Given the description of an element on the screen output the (x, y) to click on. 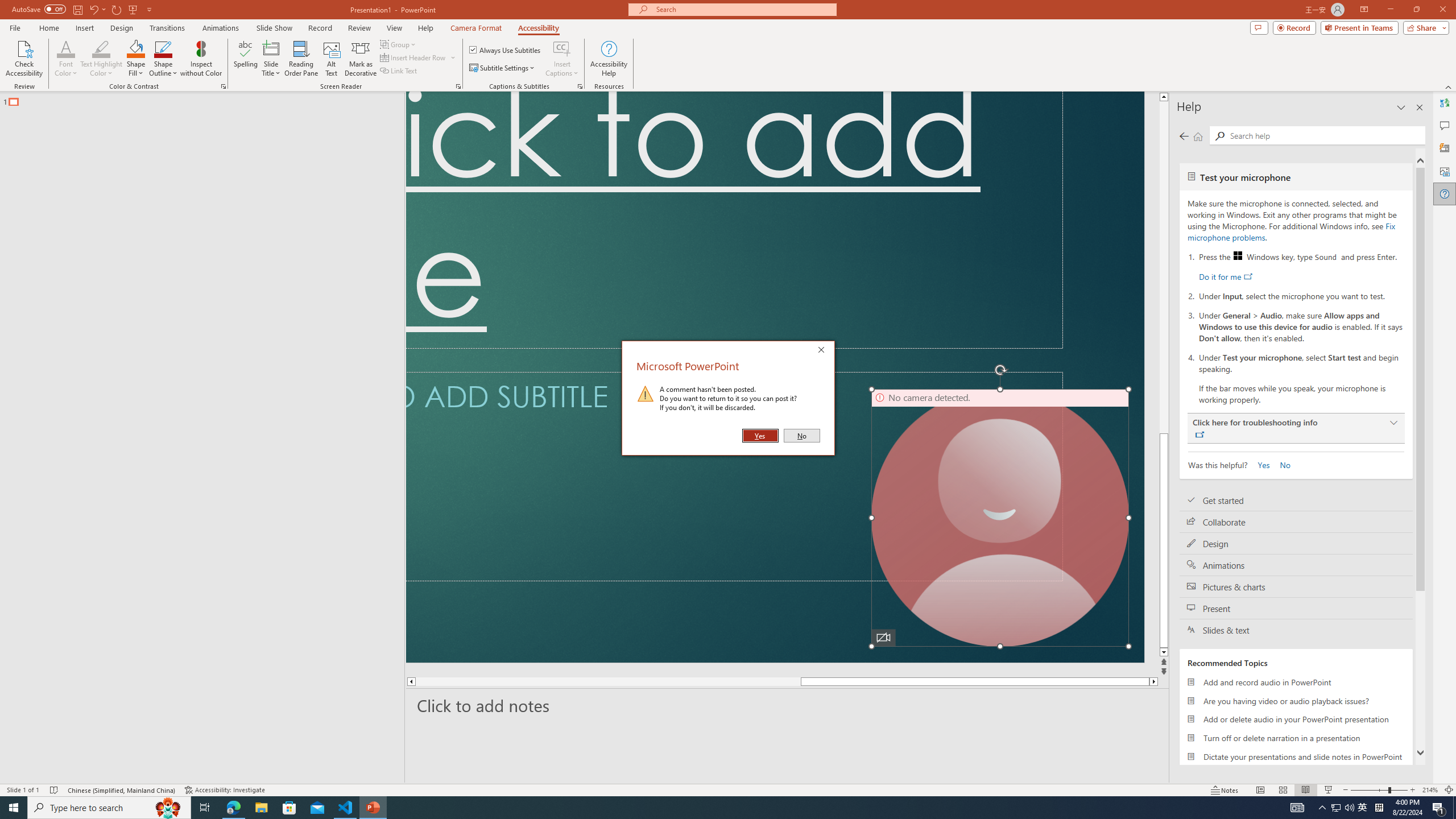
Accessibility Help (608, 58)
Link Text (399, 69)
Do it for me (1225, 276)
New Windows key logo (1238, 255)
